Given the description of an element on the screen output the (x, y) to click on. 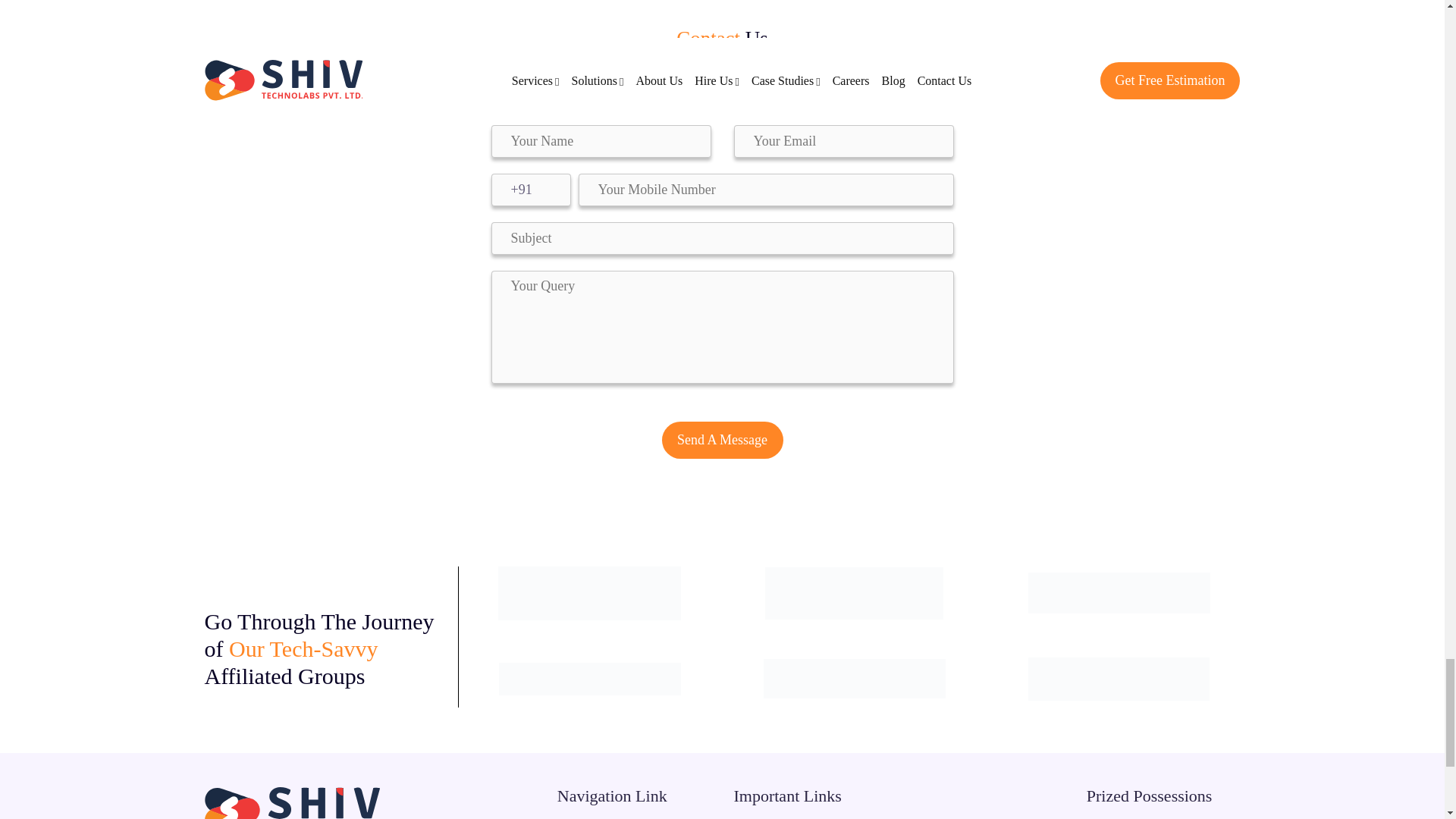
Send a Message (722, 439)
